Given the description of an element on the screen output the (x, y) to click on. 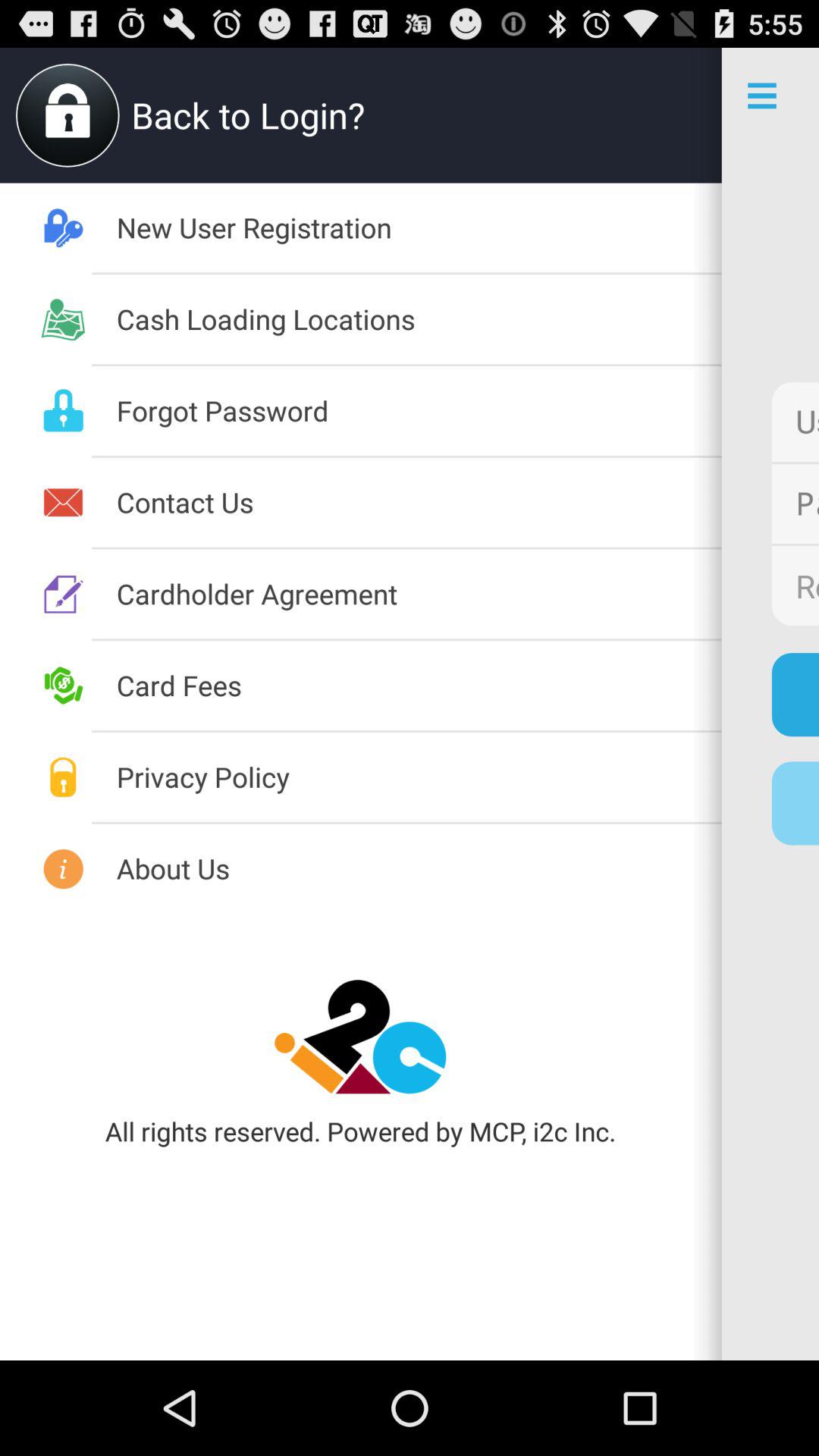
choose back to login? item (400, 115)
